Given the description of an element on the screen output the (x, y) to click on. 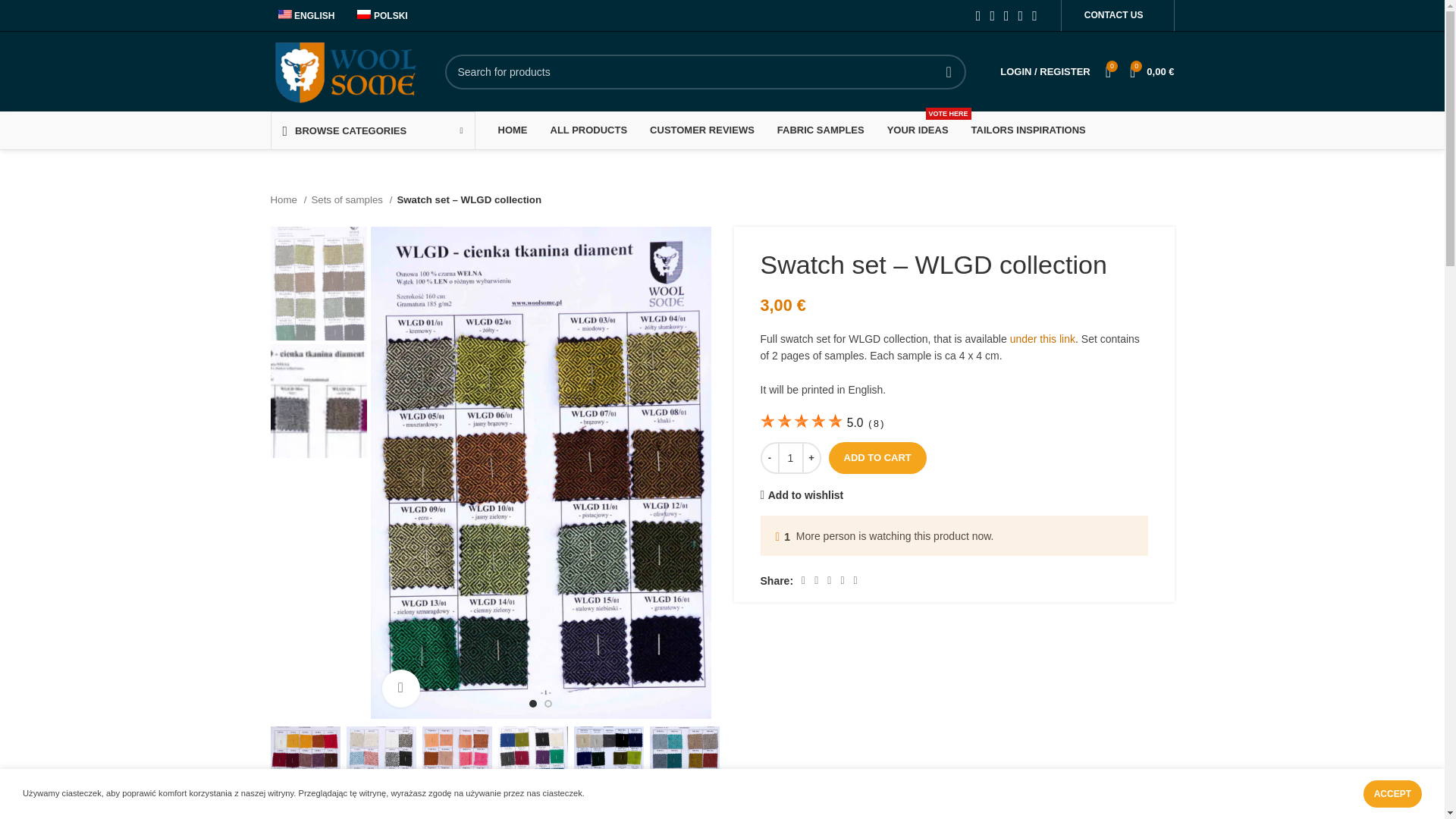
Shopping cart (1151, 71)
SEARCH (948, 71)
Search for products (705, 71)
POLSKI (378, 15)
English (301, 15)
polski (378, 15)
CONTACT US (1113, 15)
ENGLISH (301, 15)
My account (1044, 71)
